Given the description of an element on the screen output the (x, y) to click on. 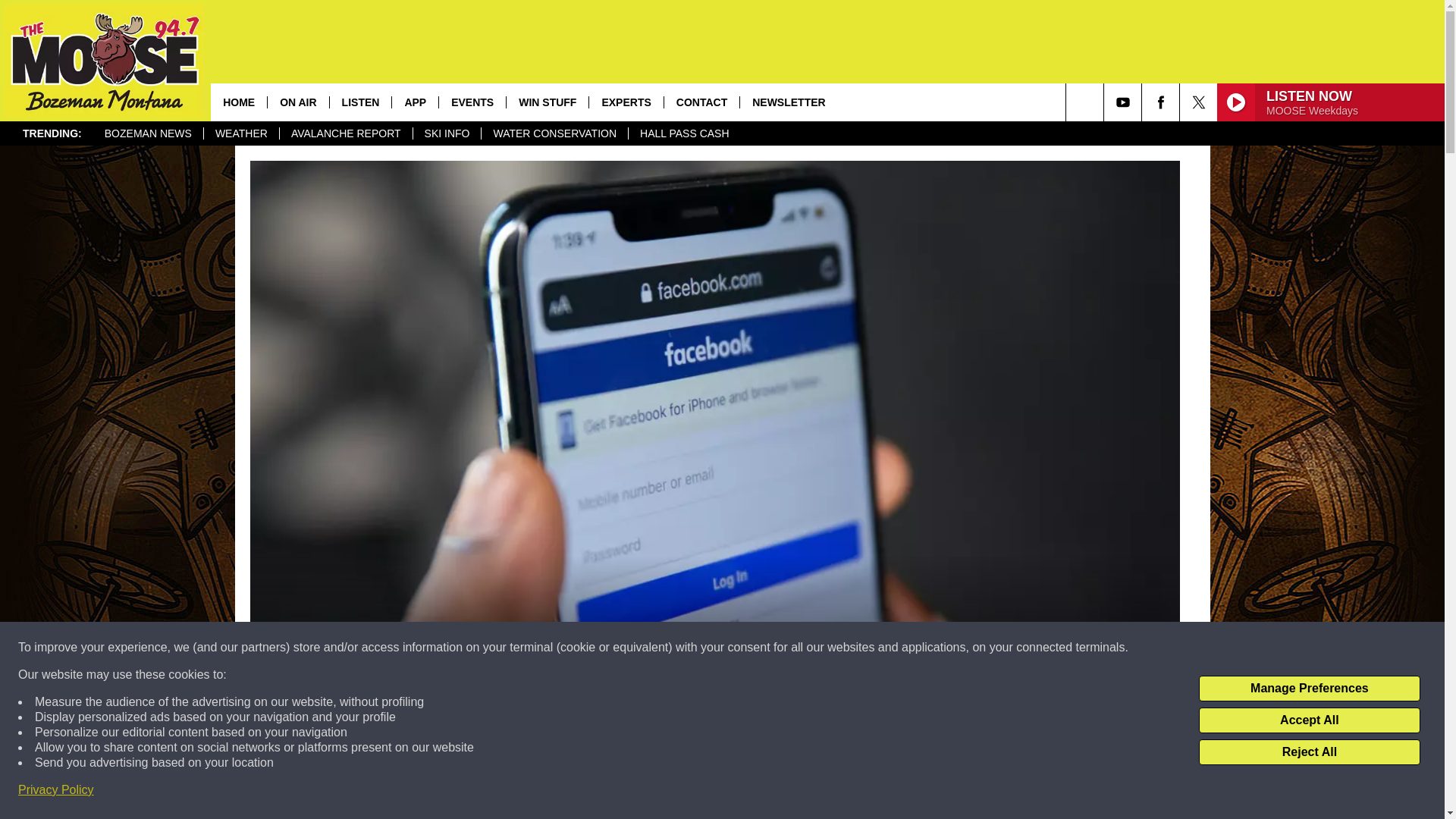
HALL PASS CASH (684, 133)
Share on Twitter (912, 791)
Privacy Policy (55, 789)
EXPERTS (625, 102)
HOME (238, 102)
EVENTS (471, 102)
WIN STUFF (546, 102)
ON AIR (297, 102)
TRENDING: (52, 133)
WATER CONSERVATION (553, 133)
BOZEMAN NEWS (148, 133)
AVALANCHE REPORT (345, 133)
Reject All (1309, 751)
APP (414, 102)
Manage Preferences (1309, 688)
